Given the description of an element on the screen output the (x, y) to click on. 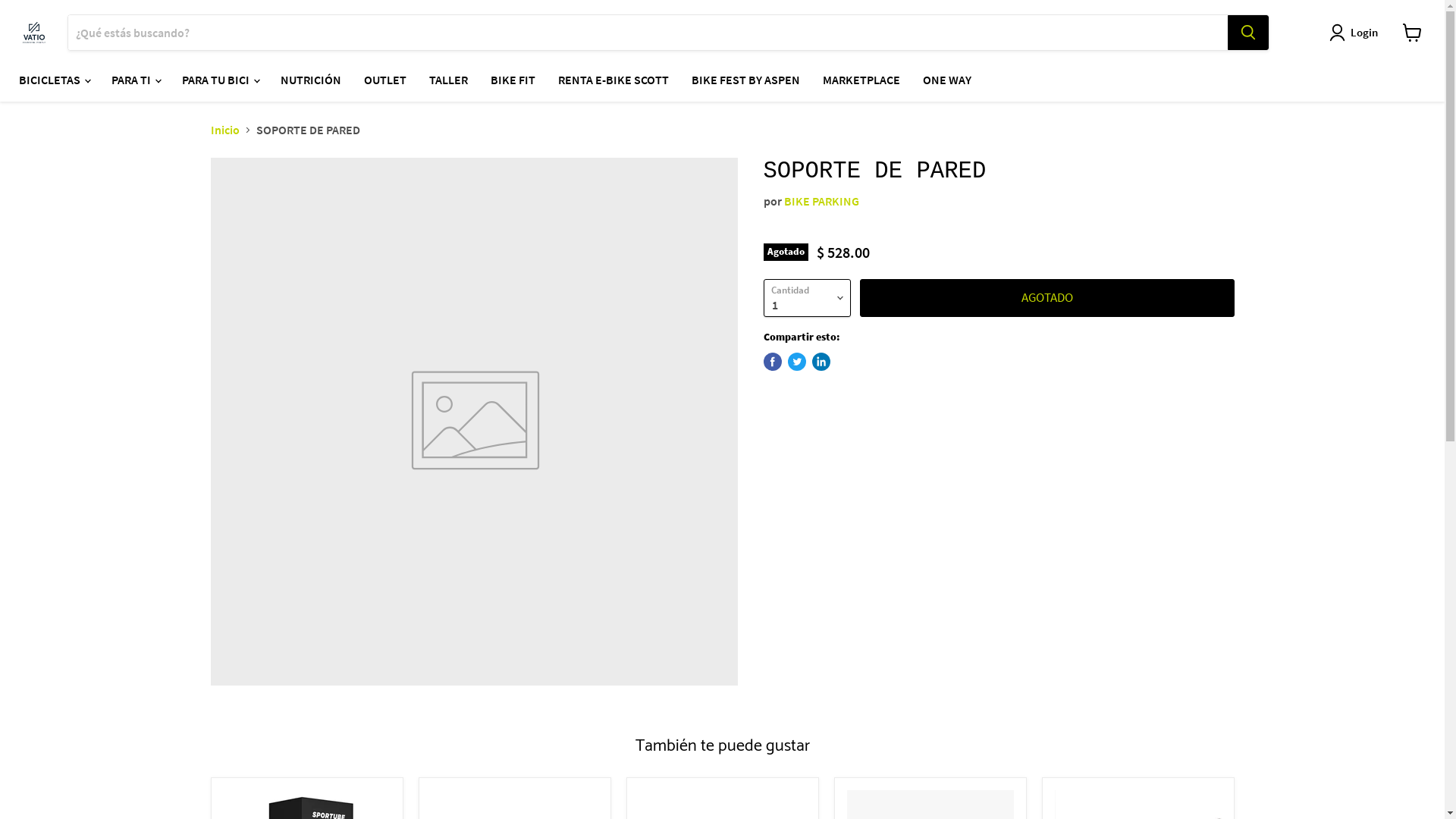
ONE WAY Element type: text (946, 79)
Login Element type: text (1363, 32)
Ver carrito Element type: text (1412, 32)
BIKE FIT Element type: text (512, 79)
Inicio Element type: text (224, 129)
Compartir en LinkedIn Element type: text (820, 361)
Compartir en Facebook Element type: text (771, 361)
BIKE PARKING Element type: text (821, 200)
OUTLET Element type: text (384, 79)
TALLER Element type: text (448, 79)
RENTA E-BIKE SCOTT Element type: text (613, 79)
BIKE FEST BY ASPEN Element type: text (745, 79)
Publicar en Twitter Element type: text (796, 361)
MARKETPLACE Element type: text (861, 79)
AGOTADO Element type: text (1046, 297)
